Given the description of an element on the screen output the (x, y) to click on. 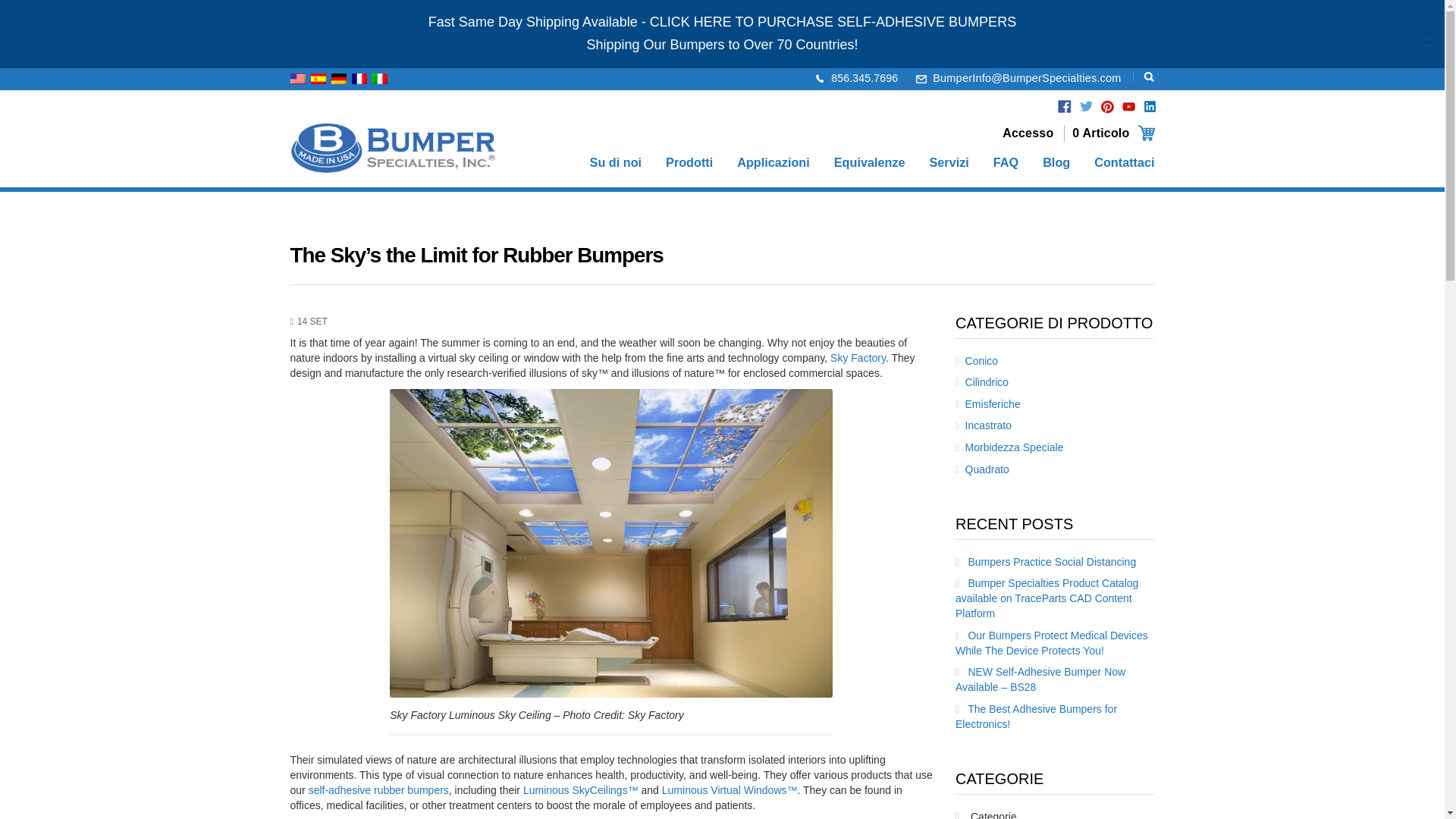
Vedi il tuo carrello della spesa (1113, 133)
Applicazioni (772, 163)
FAQ (1004, 163)
self-adhesive rubber bumpers (378, 789)
Self-Adhesive Rubber Bumpers (378, 789)
Sky Factory (857, 357)
Sky Factory (857, 357)
Su di noi (615, 163)
0 Articolo (1113, 133)
Accesso (1027, 132)
856.345.7696 (864, 78)
Contattaci (1124, 163)
